Given the description of an element on the screen output the (x, y) to click on. 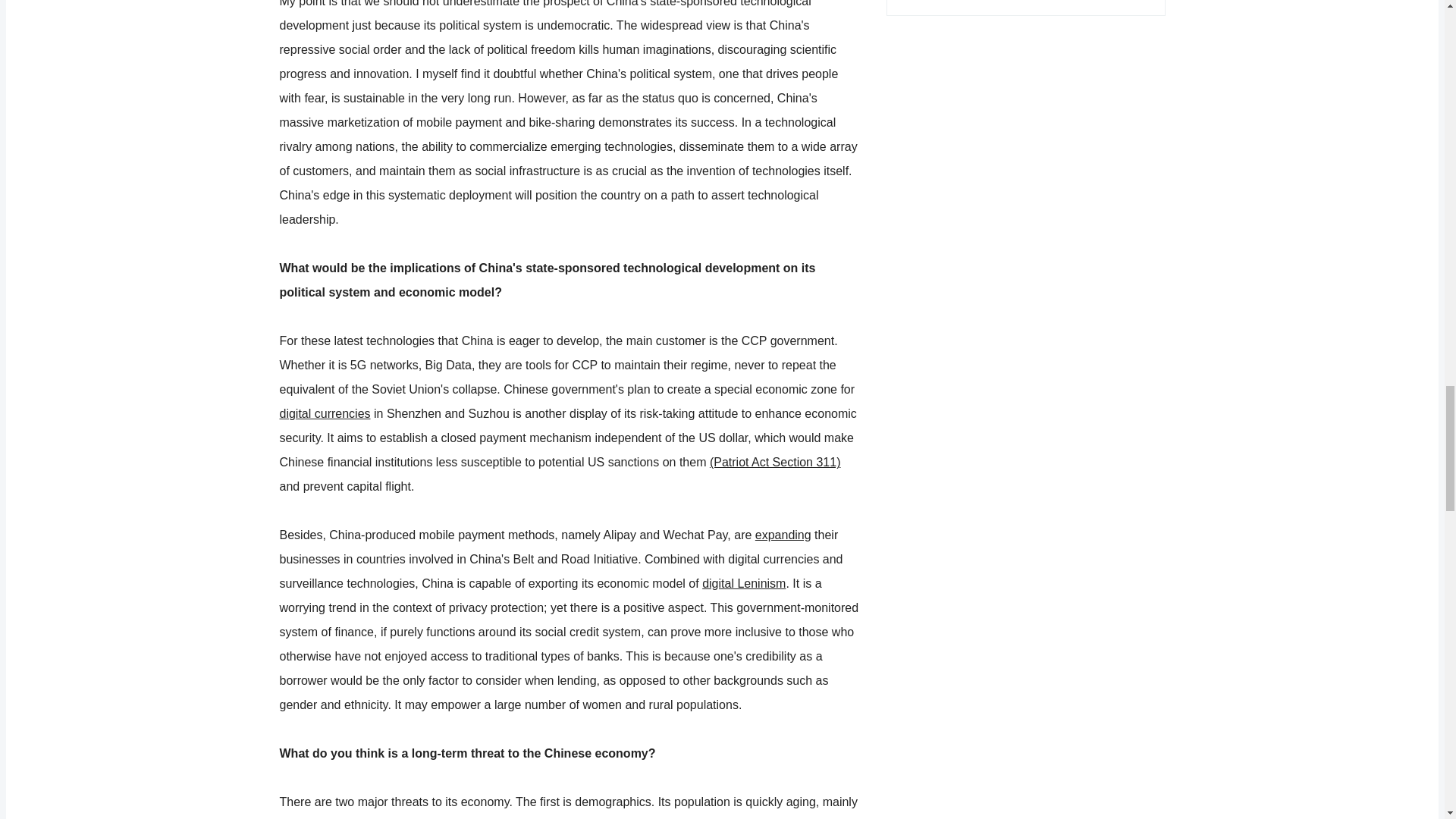
expanding (782, 534)
digital currencies (324, 413)
digital Leninism (743, 583)
